Given the description of an element on the screen output the (x, y) to click on. 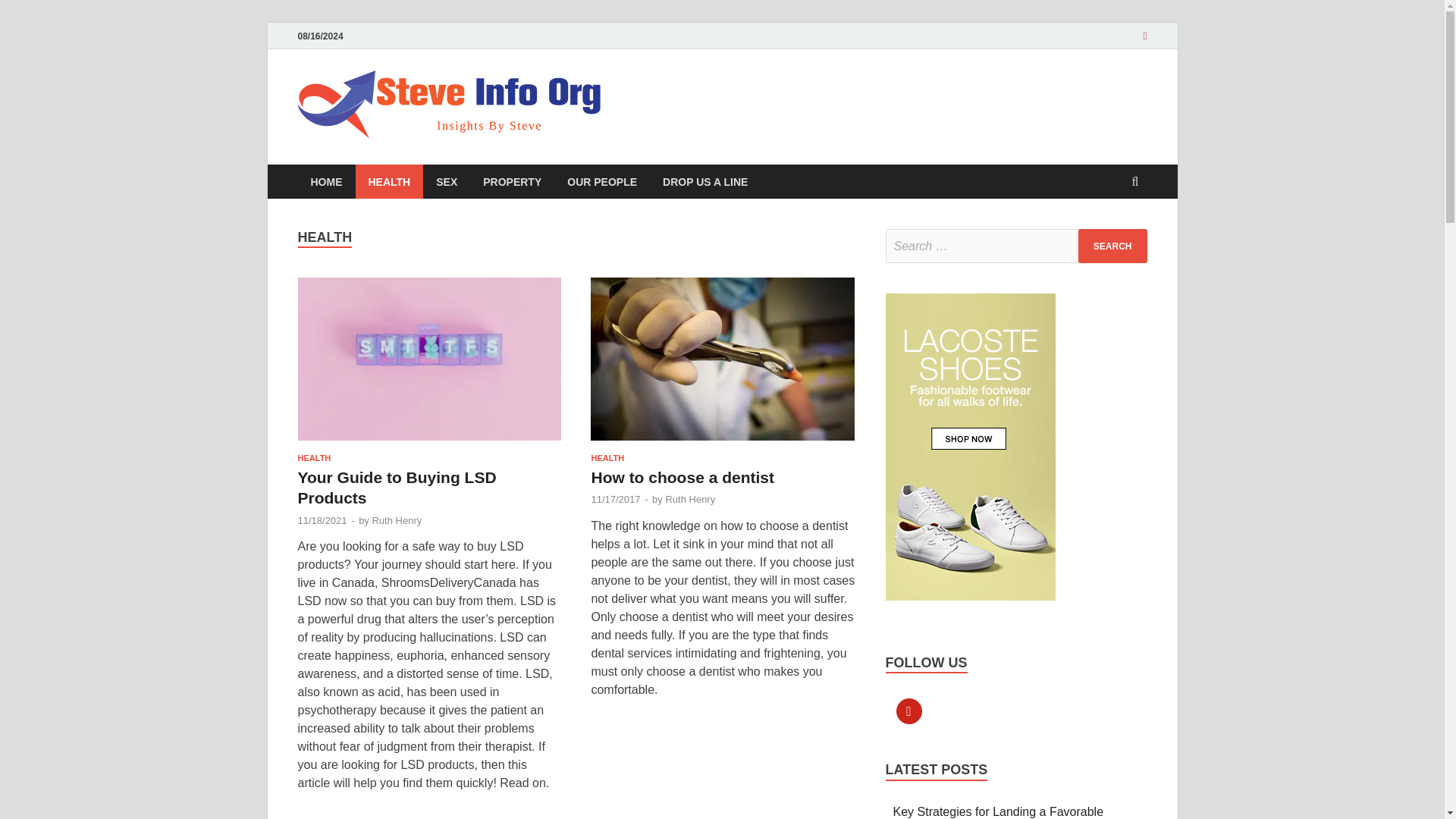
HEALTH (389, 181)
How to choose a dentist (682, 477)
PROPERTY (512, 181)
DROP US A LINE (704, 181)
Your Guide to Buying LSD Products (428, 365)
How to choose a dentist (722, 365)
Instagram (908, 710)
Search (1112, 245)
Your Guide to Buying LSD Products (396, 487)
Ruth Henry (396, 520)
